Given the description of an element on the screen output the (x, y) to click on. 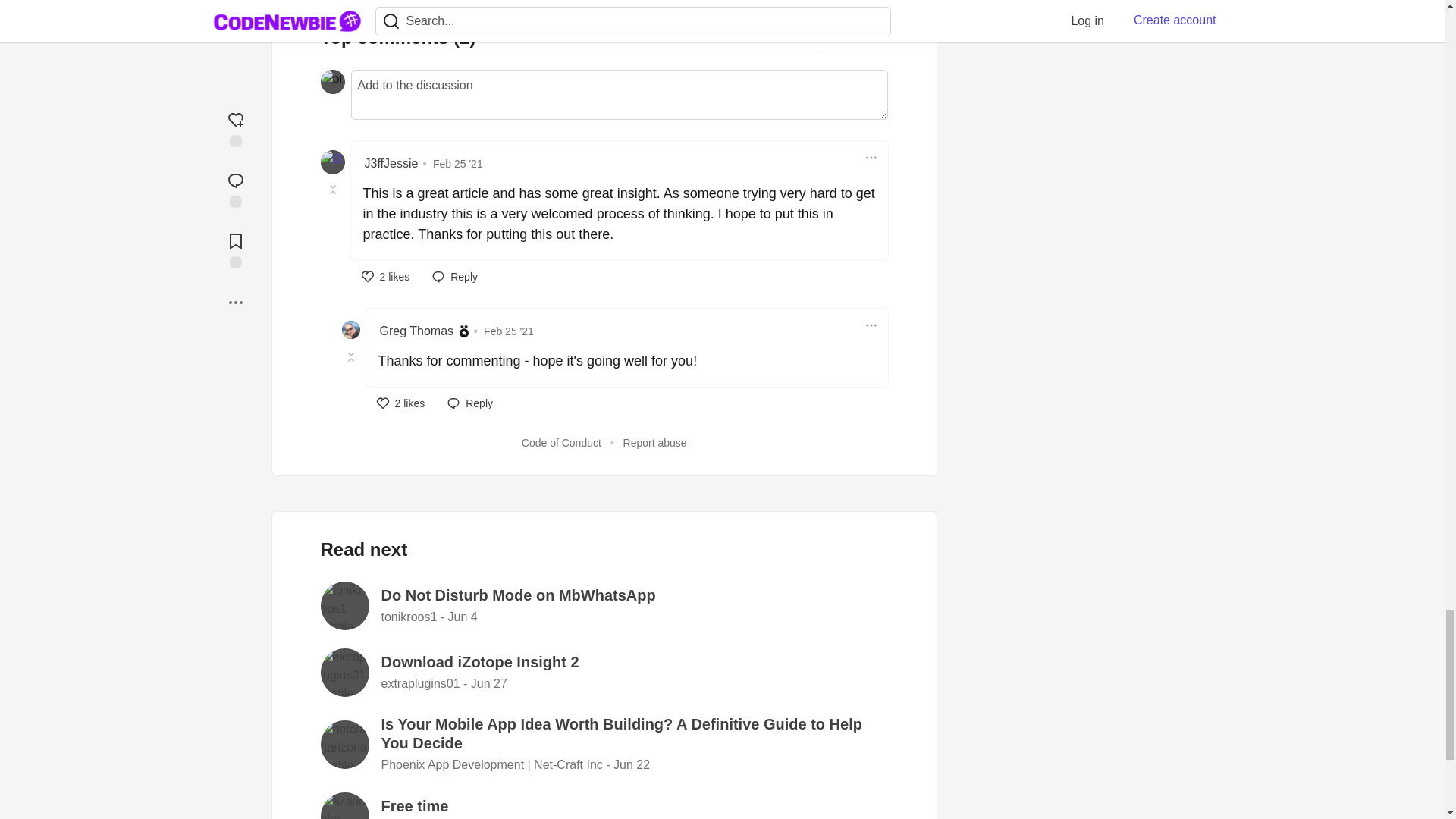
Dropdown menu (870, 157)
Thursday, February 25, 2021 at 11:28:57 PM (508, 331)
Thursday, February 25, 2021 at 9:21:41 PM (457, 163)
Dropdown menu (870, 325)
